Given the description of an element on the screen output the (x, y) to click on. 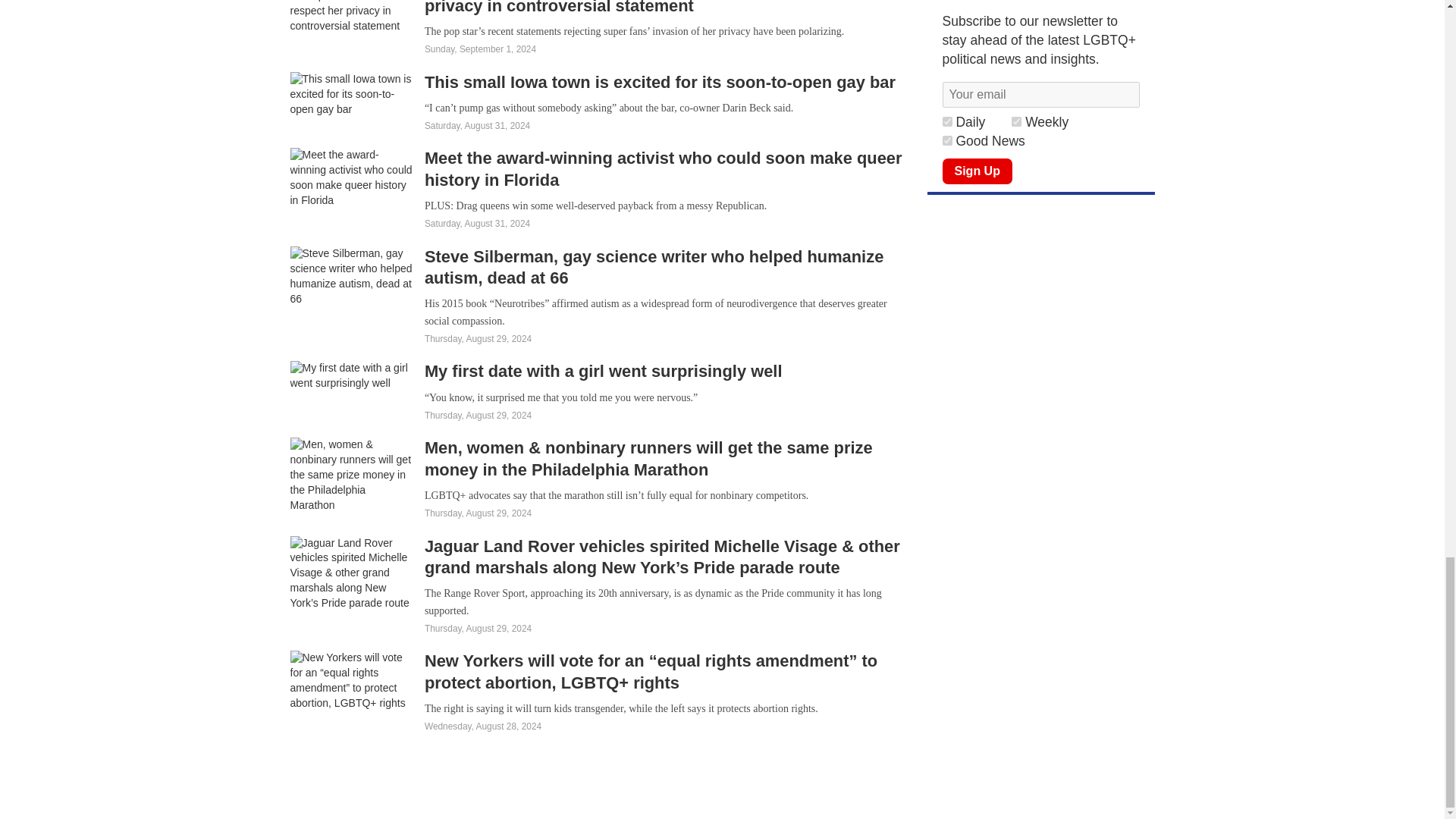
1920884 (1016, 121)
Sign Up (976, 171)
1920885 (947, 121)
1920883 (947, 140)
